Given the description of an element on the screen output the (x, y) to click on. 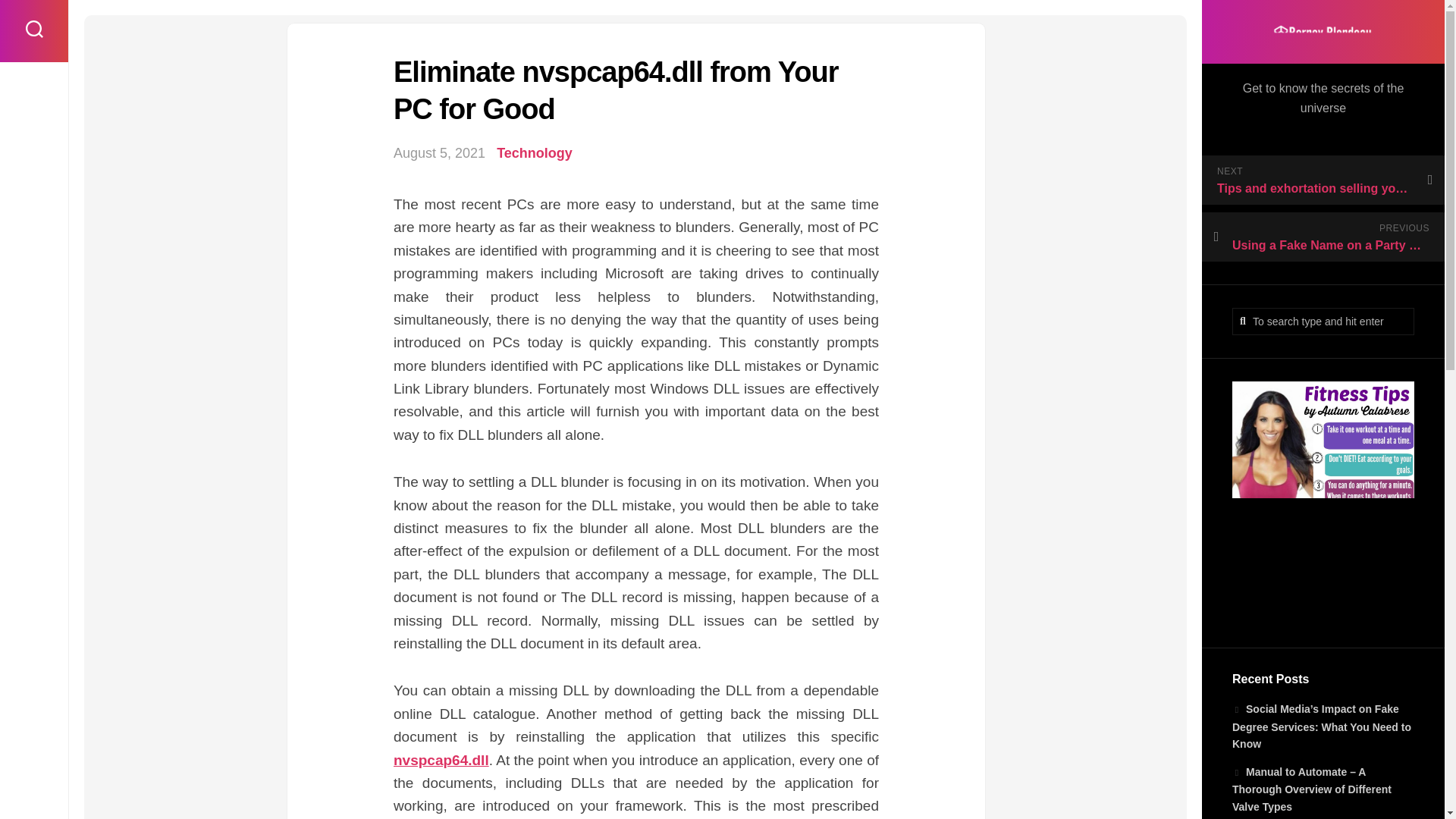
nvspcap64.dll (441, 760)
Technology (534, 152)
To search type and hit enter (1322, 320)
To search type and hit enter (1322, 320)
